Given the description of an element on the screen output the (x, y) to click on. 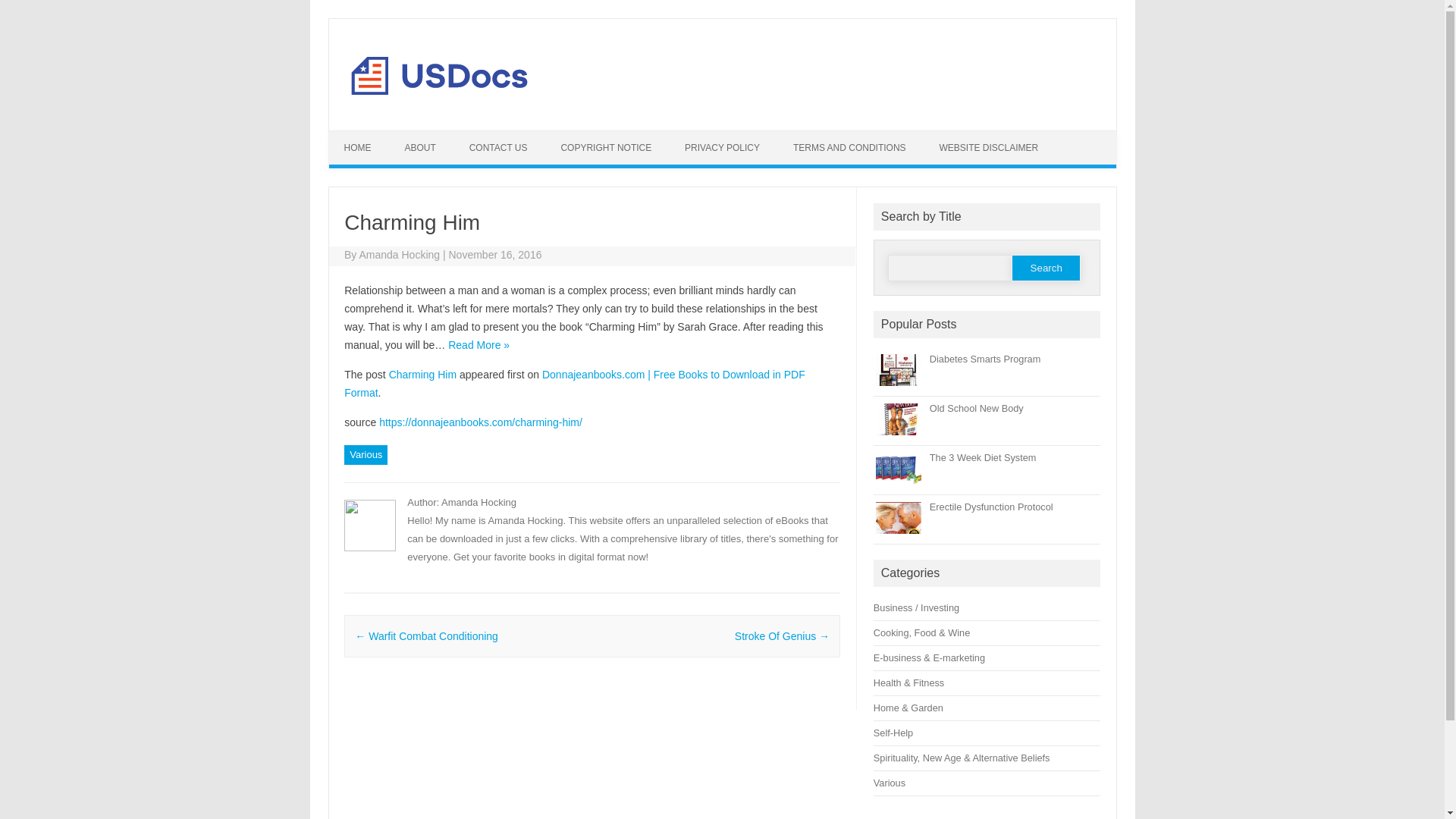
Various (889, 782)
Search (1045, 267)
Self-Help (892, 732)
The 3 Week Diet System (983, 457)
Pdffreedownload.org (439, 104)
Skip to content (757, 135)
HOME (358, 147)
CONTACT US (498, 147)
Charming Him (422, 374)
TERMS AND CONDITIONS (849, 147)
Skip to content (757, 135)
